Given the description of an element on the screen output the (x, y) to click on. 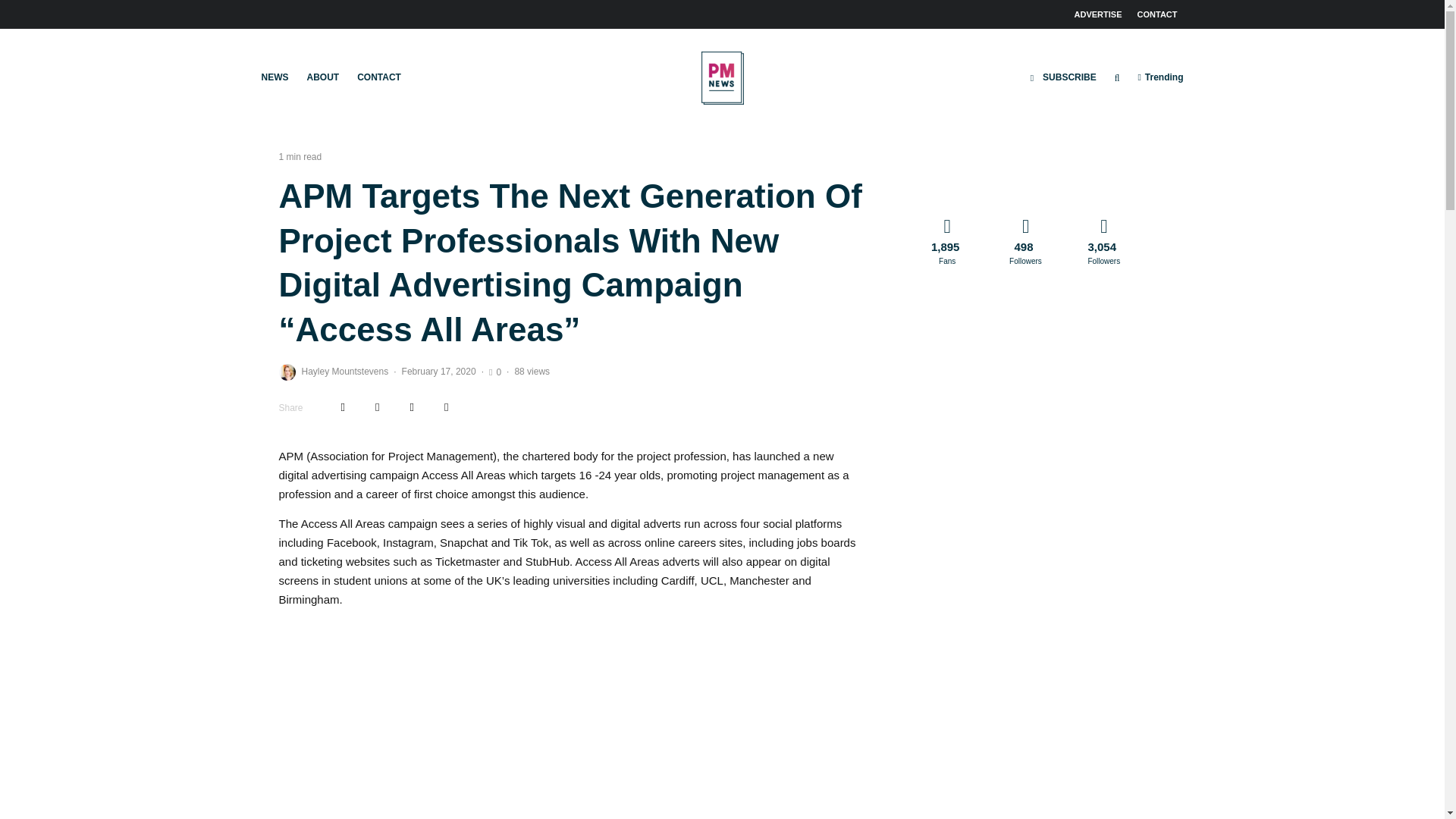
0 (494, 371)
ADVERTISE (1098, 14)
CONTACT (1157, 14)
Hayley Mountstevens (344, 371)
